Given the description of an element on the screen output the (x, y) to click on. 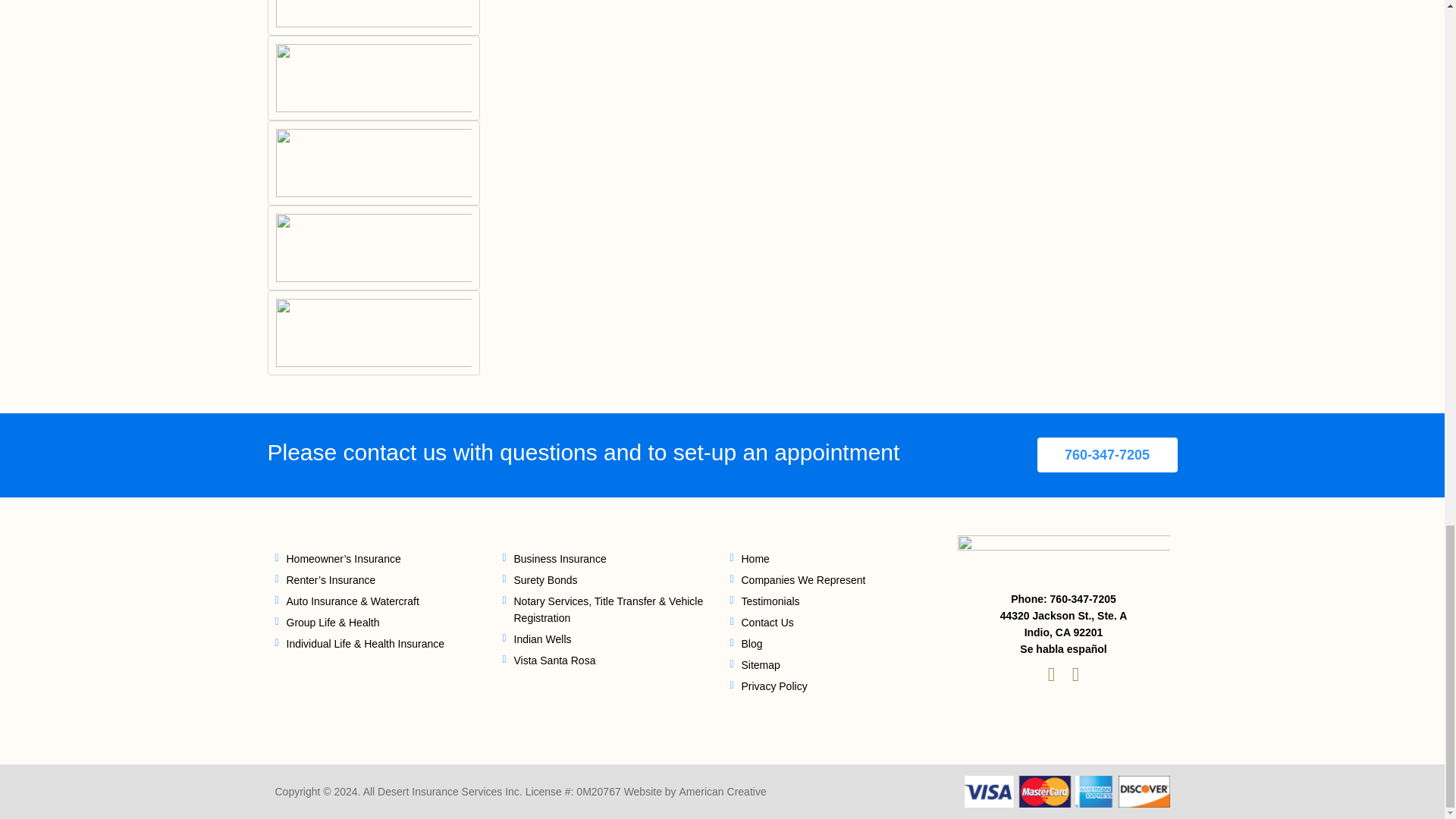
Facebook (1074, 675)
Yelp (1050, 675)
contact us (394, 452)
